Given the description of an element on the screen output the (x, y) to click on. 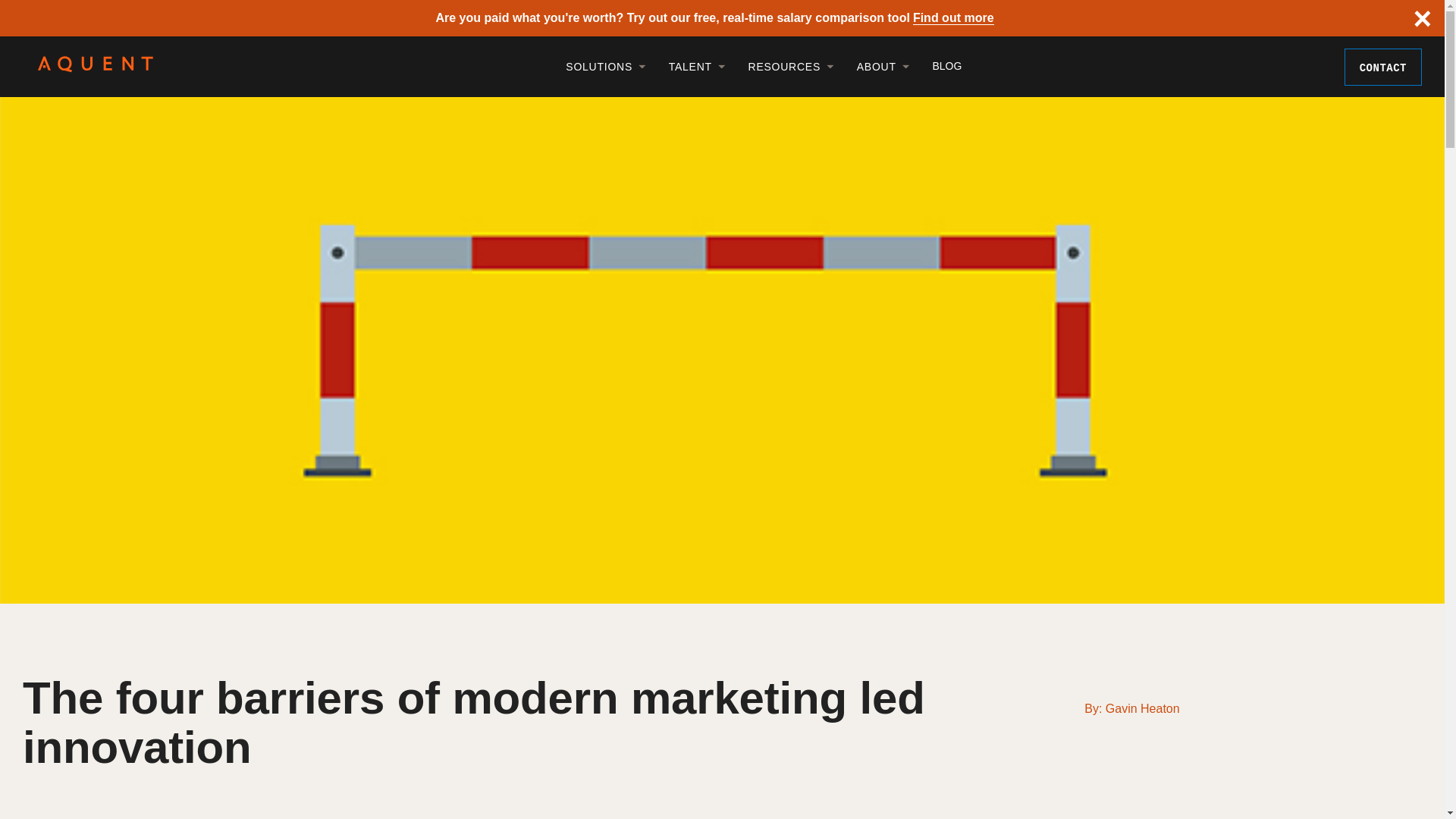
Aquent Homepage (94, 68)
Gavin Heaton (1142, 707)
CONTACT (1382, 66)
Gavin Heaton (1142, 707)
BLOG (934, 65)
Find out more (953, 18)
